Given the description of an element on the screen output the (x, y) to click on. 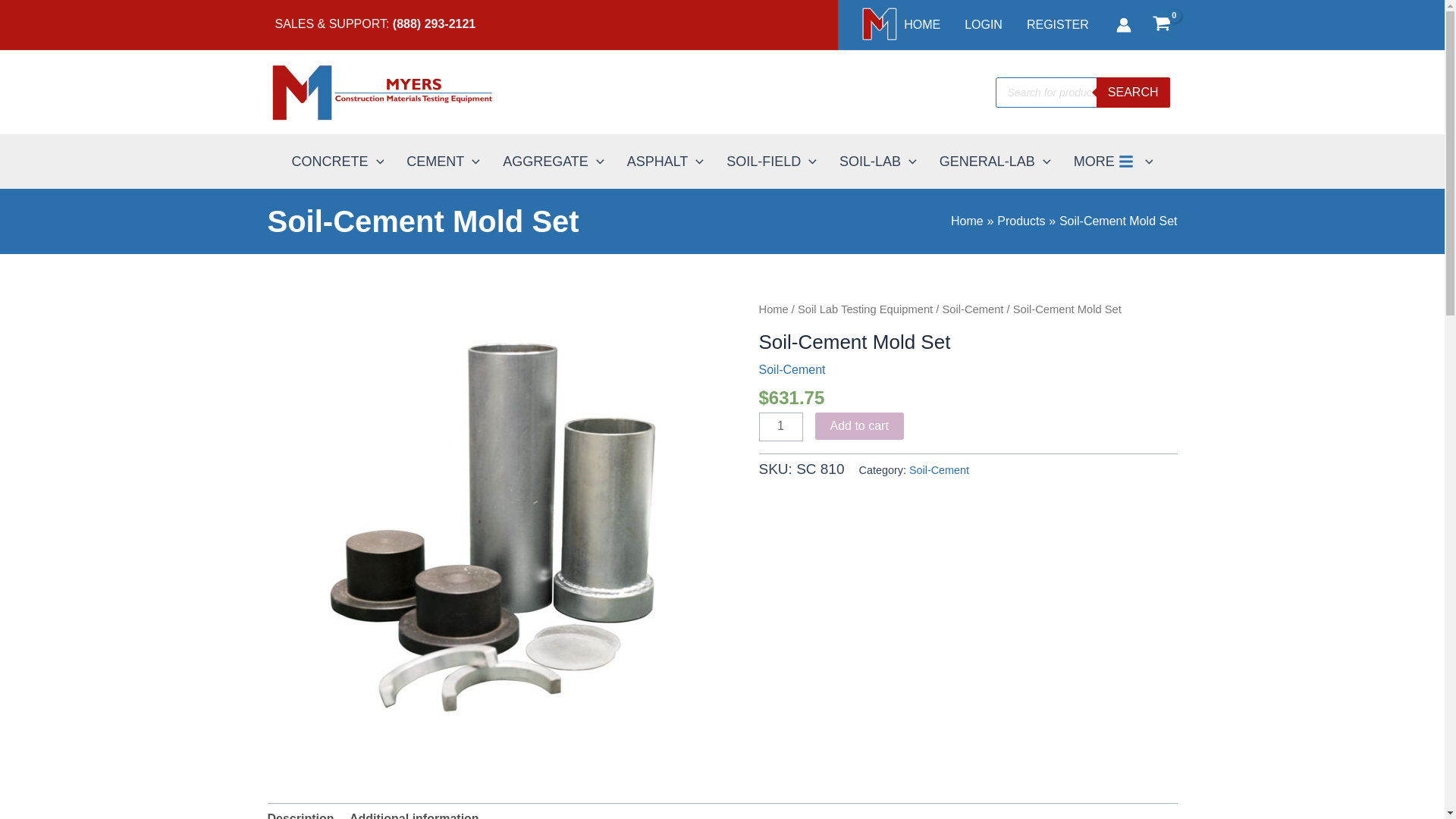
LOGIN (983, 24)
1 (780, 426)
CONCRETE (338, 161)
CEMENT (443, 161)
HOME (898, 24)
REGISTER (1057, 24)
SEARCH (1133, 91)
